Given the description of an element on the screen output the (x, y) to click on. 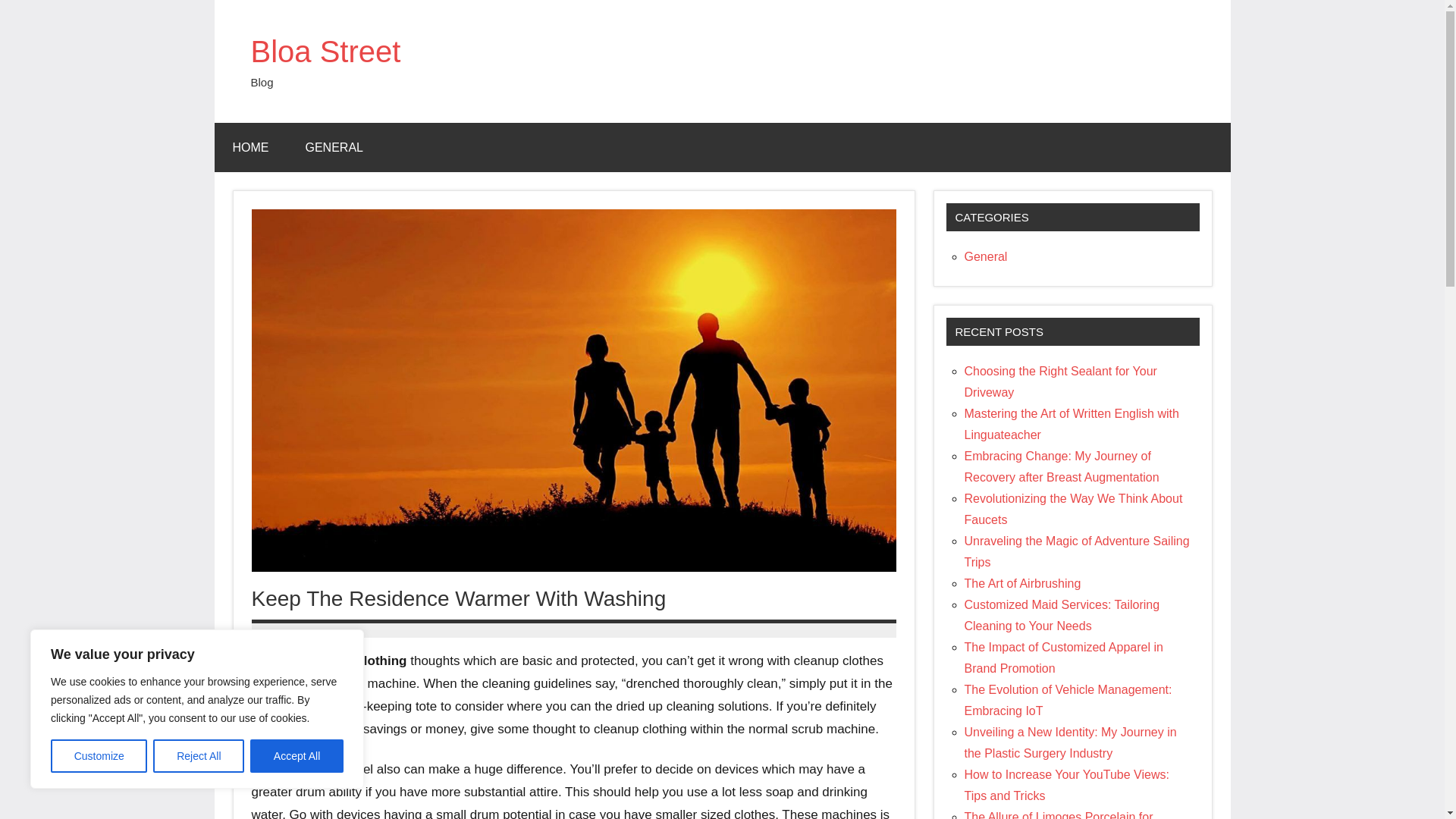
Accept All (296, 756)
Customize (98, 756)
Choosing the Right Sealant for Your Driveway (1060, 381)
The Art of Airbrushing (1022, 583)
Unraveling the Magic of Adventure Sailing Trips (1076, 551)
General (985, 256)
Reject All (198, 756)
Bloa Street (325, 51)
Revolutionizing the Way We Think About Faucets (1072, 509)
Mastering the Art of Written English with Linguateacher (1071, 424)
GENERAL (333, 146)
HOME (250, 146)
